Given the description of an element on the screen output the (x, y) to click on. 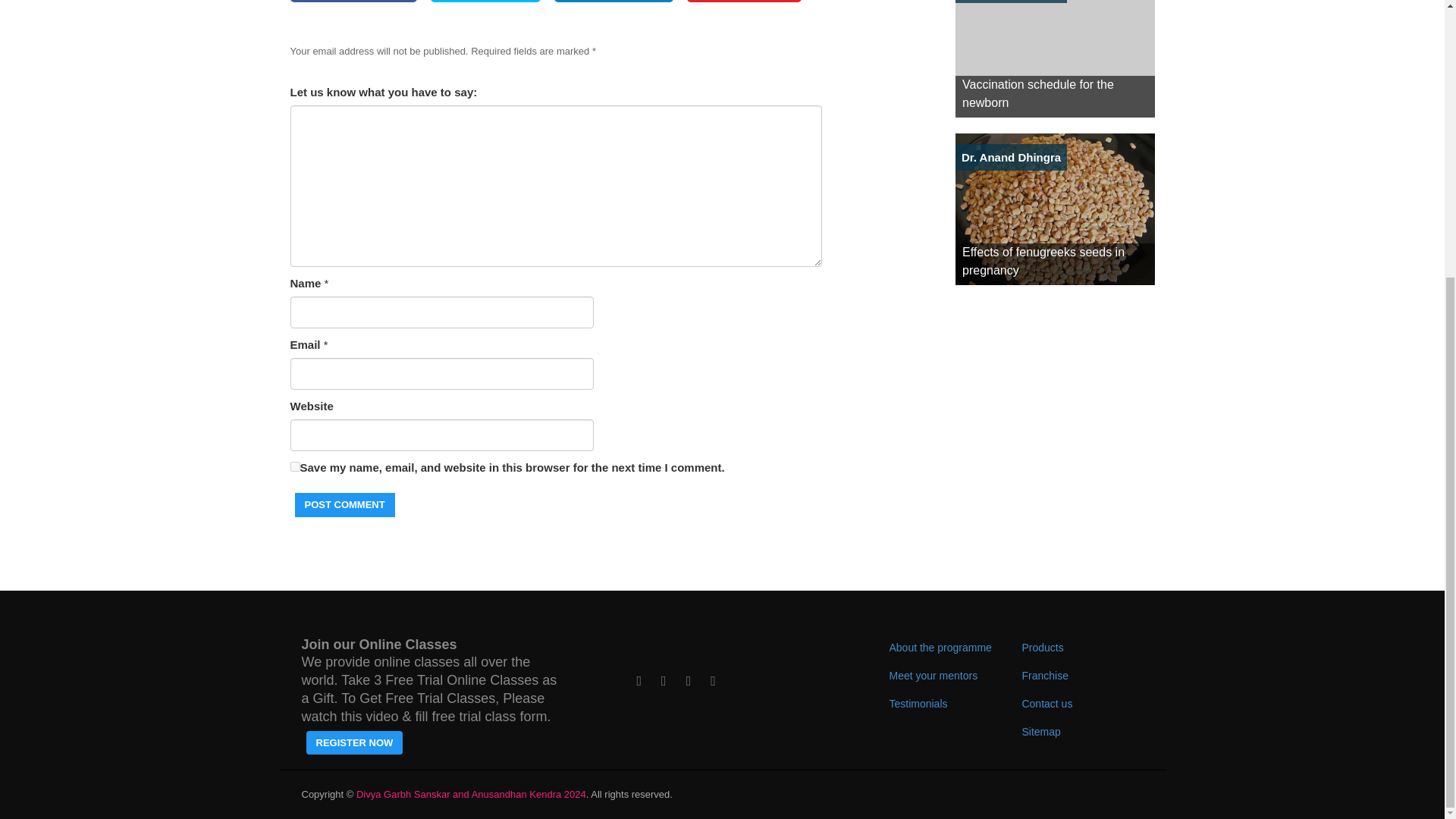
Post Comment (344, 504)
yes (294, 466)
Post Comment (344, 504)
